Given the description of an element on the screen output the (x, y) to click on. 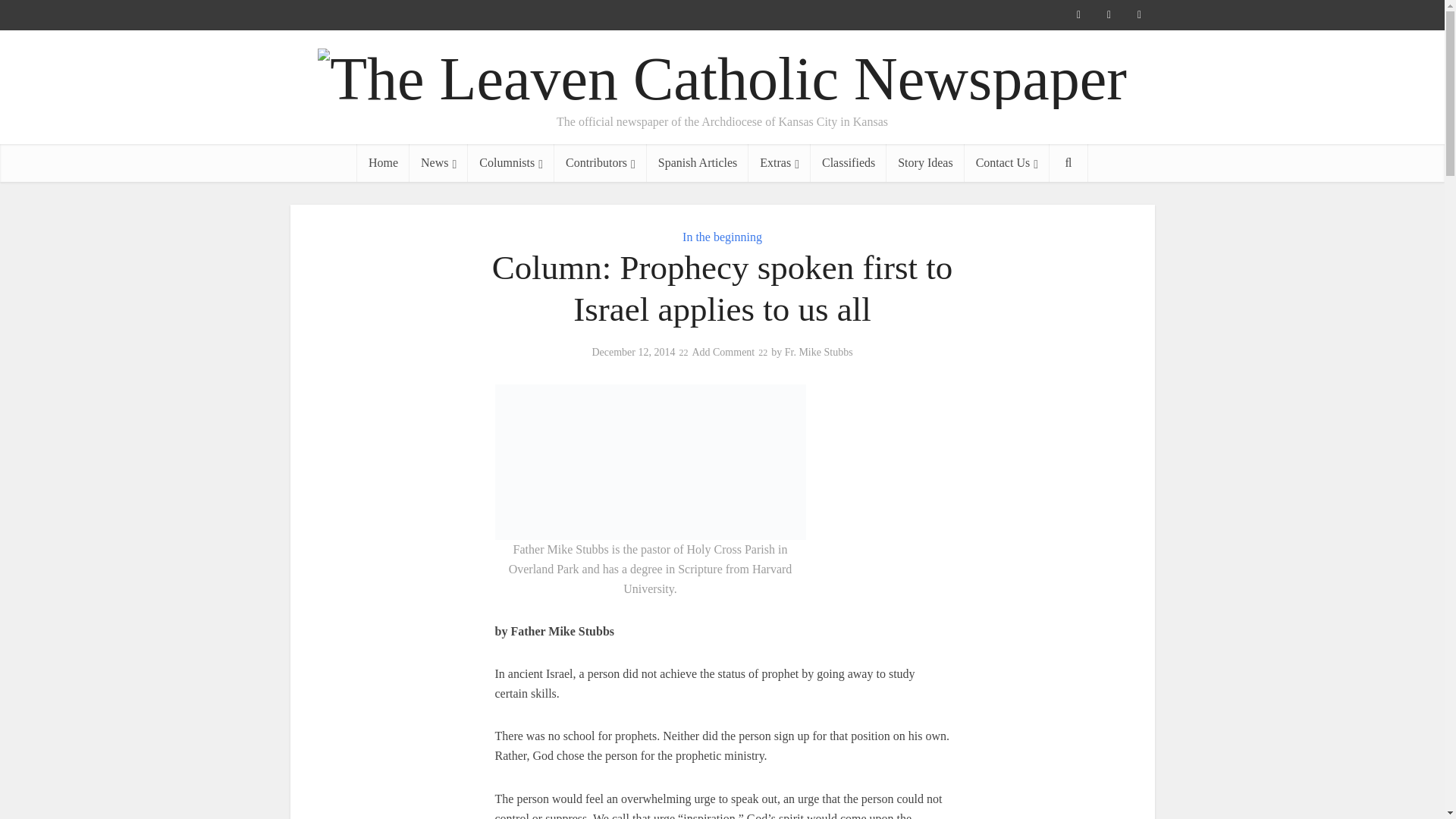
Classifieds (848, 162)
News (438, 162)
Home (382, 162)
None (438, 162)
Spanish Articles (697, 162)
Contributors (600, 162)
Columnists (510, 162)
Extras (779, 162)
